Given the description of an element on the screen output the (x, y) to click on. 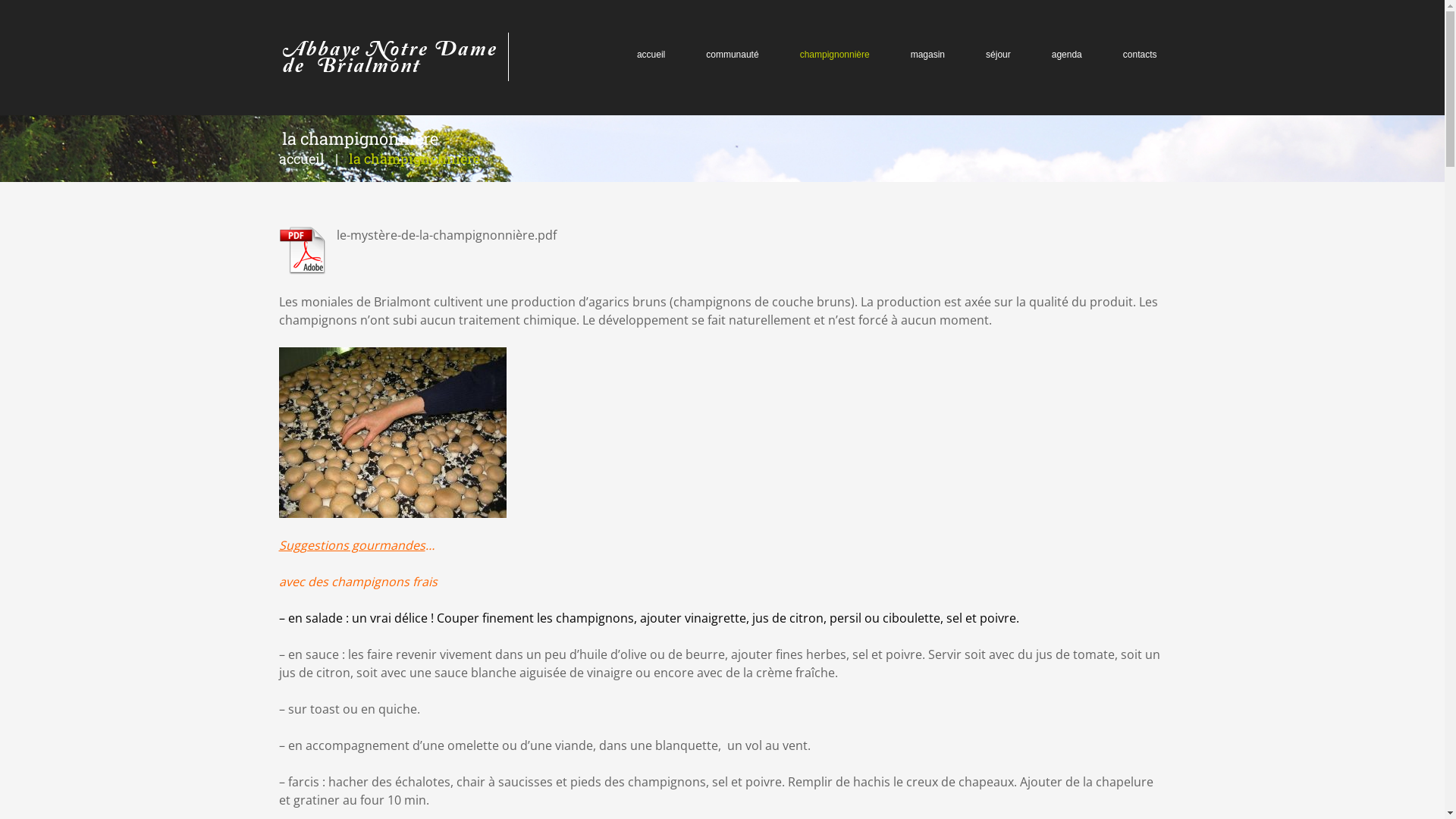
magasin Element type: text (927, 53)
agenda Element type: text (1066, 53)
accueil Element type: text (650, 53)
contacts Element type: text (1139, 53)
accueil Element type: text (301, 158)
